Given the description of an element on the screen output the (x, y) to click on. 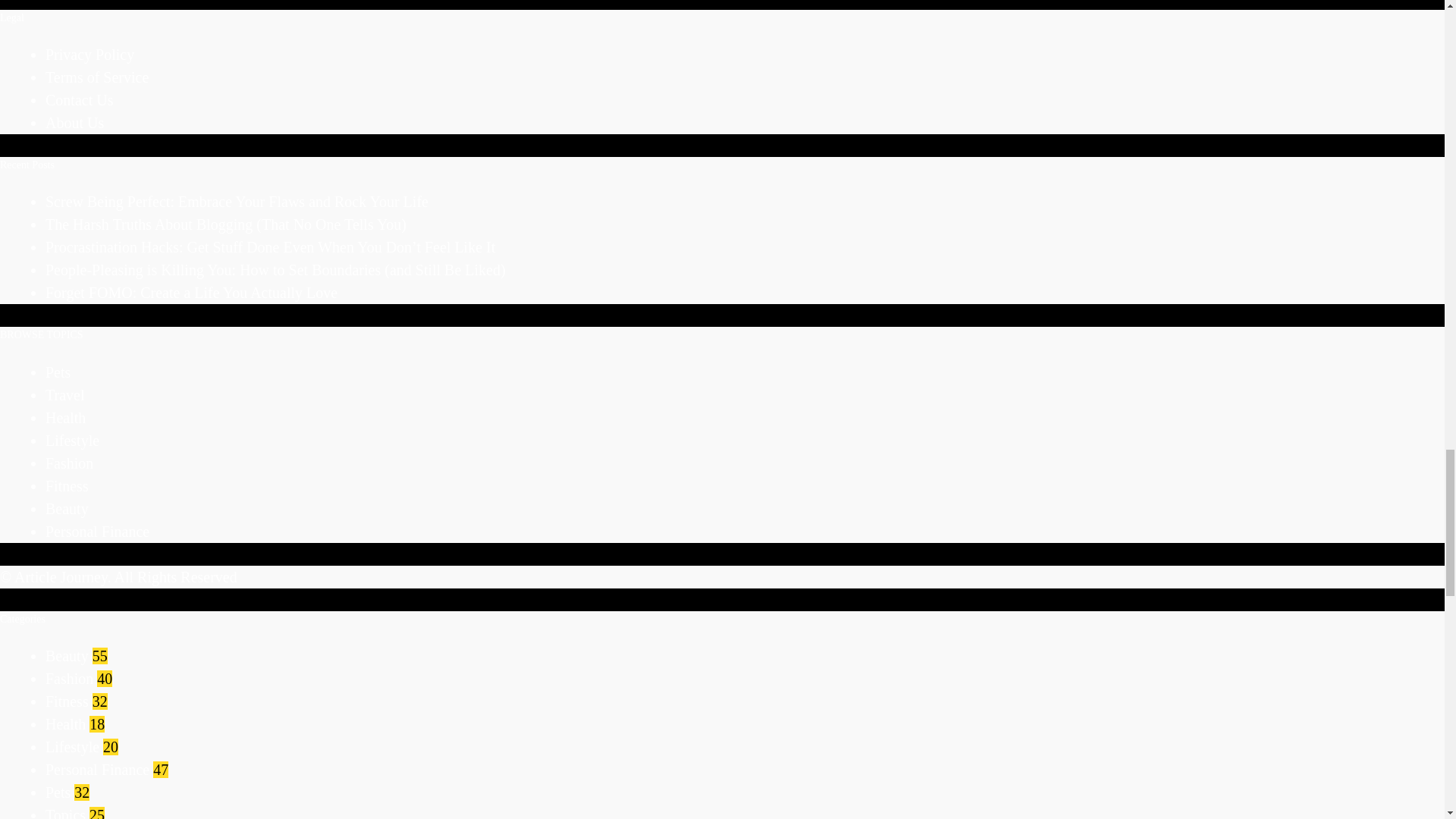
Privacy Policy (89, 54)
About Us (74, 122)
Screw Being Perfect: Embrace Your Flaws and Rock Your Life (236, 201)
Terms of Service (96, 76)
Contact Us (79, 99)
